Given the description of an element on the screen output the (x, y) to click on. 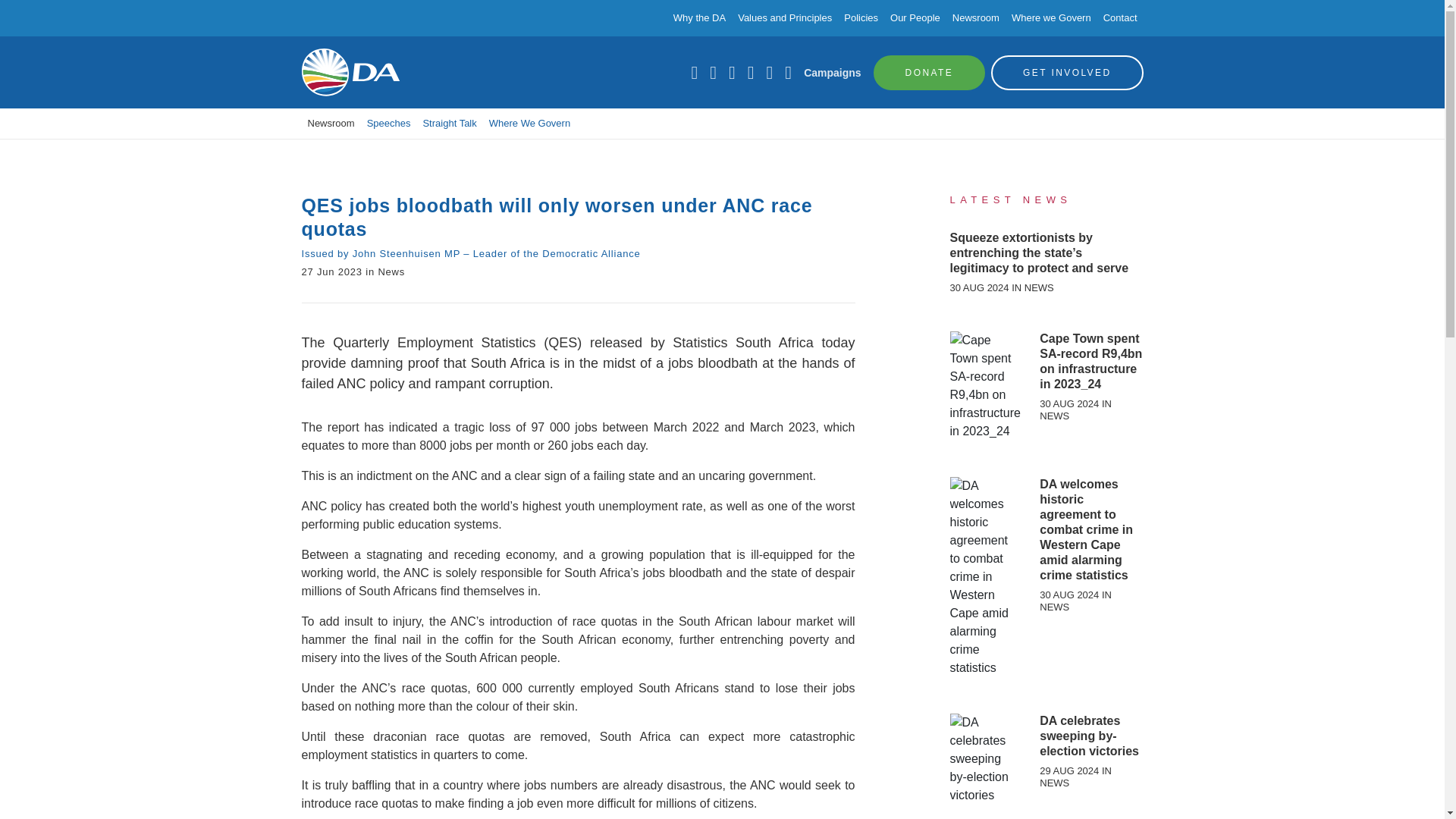
Where we Govern (1050, 17)
Newsroom (331, 122)
GET INVOLVED (1066, 70)
Get Involved (1066, 70)
GET INVOLVED (1066, 71)
Straight Talk (449, 122)
DONATE (929, 70)
Our People (914, 17)
Democratic Alliance Logo (350, 72)
Where We Govern (529, 122)
